Given the description of an element on the screen output the (x, y) to click on. 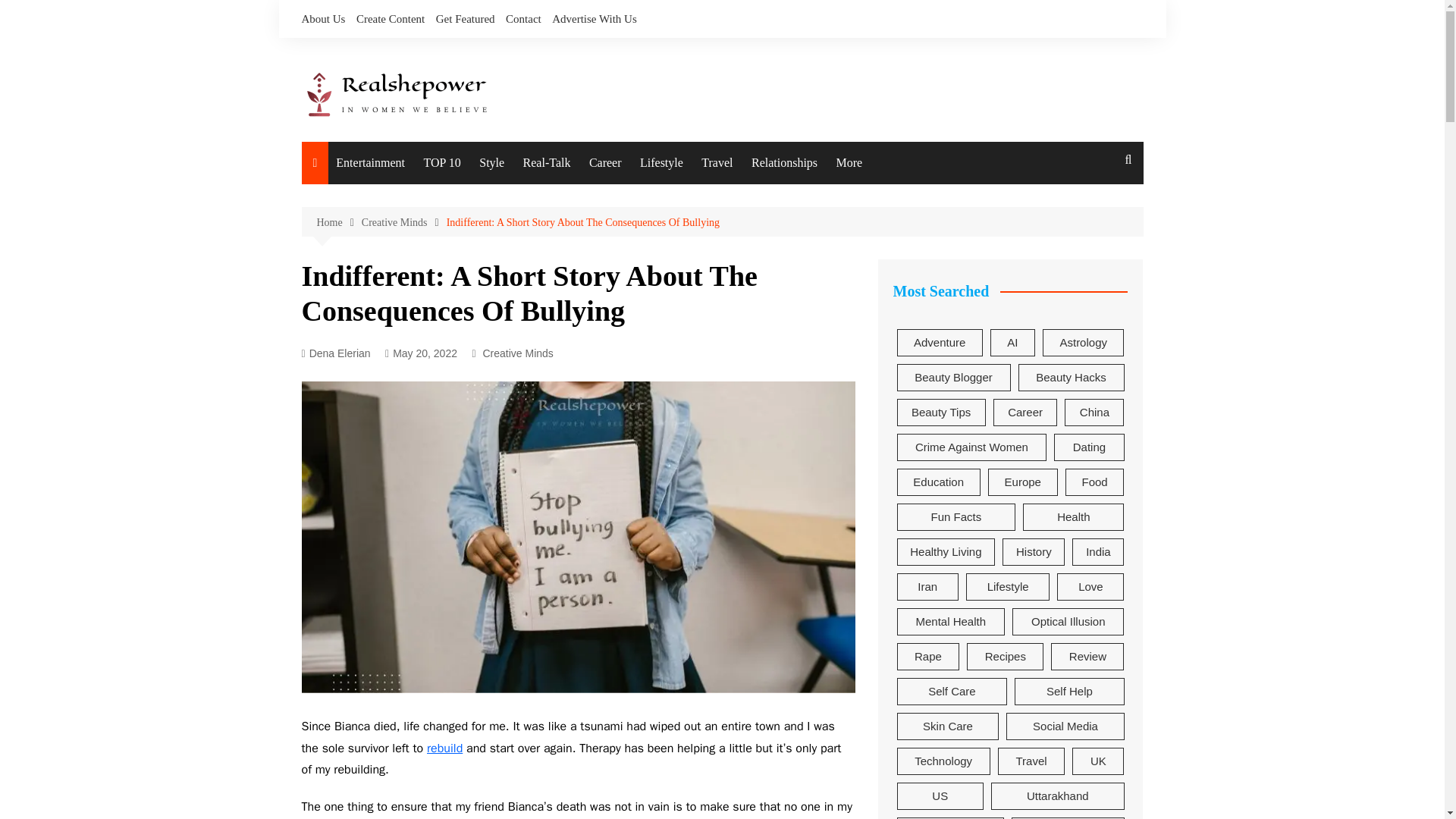
Get Featured (465, 18)
News (412, 233)
Artists (765, 364)
Science (578, 297)
In Sports (765, 265)
Optical Illusions (412, 297)
Writers (765, 330)
Real-Talk (546, 162)
Period (932, 265)
Fun Facts (412, 265)
